Given the description of an element on the screen output the (x, y) to click on. 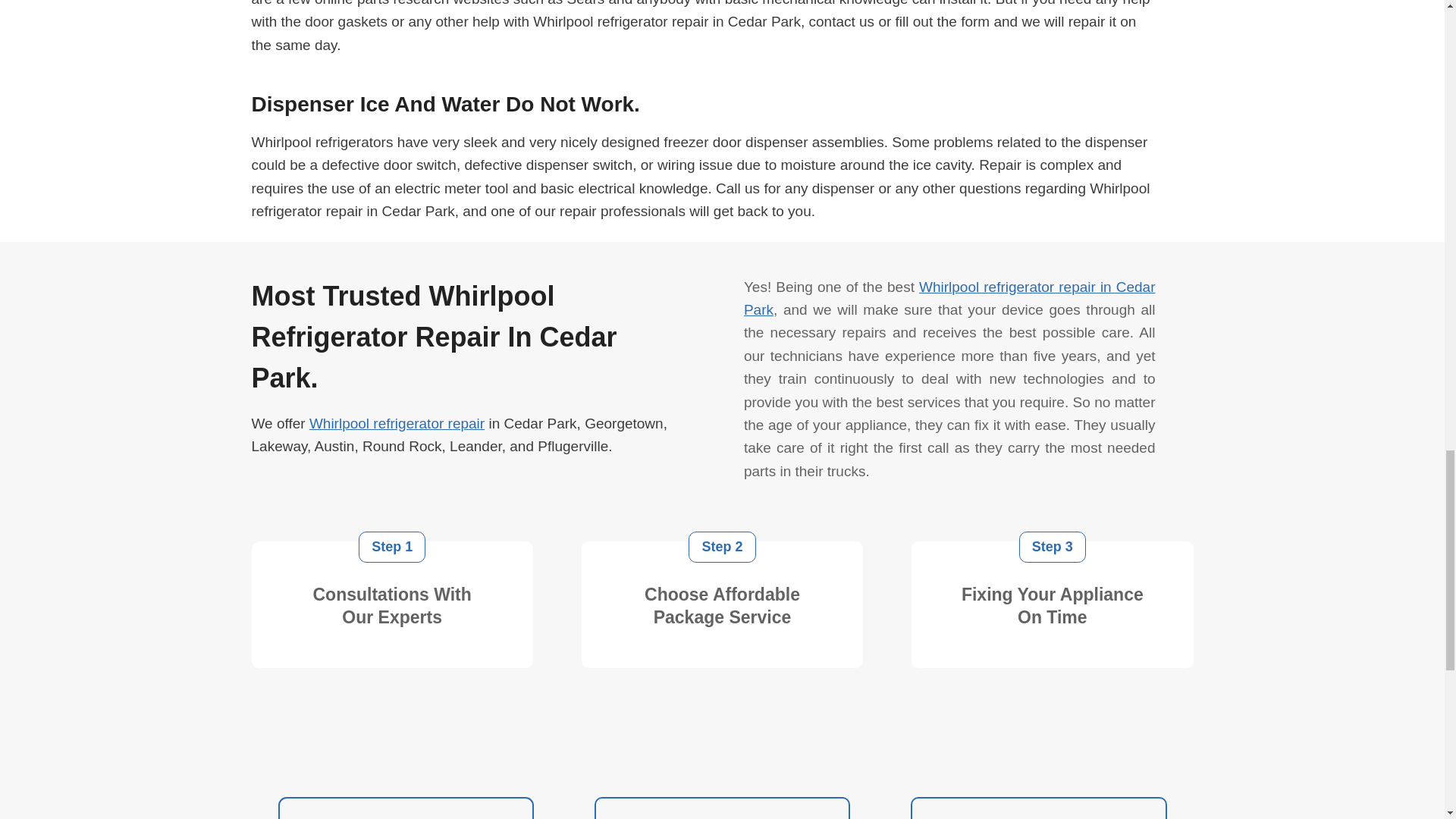
Whirlpool refrigerator repair (396, 423)
Whirlpool refrigerator repair in Cedar Park (950, 298)
